Given the description of an element on the screen output the (x, y) to click on. 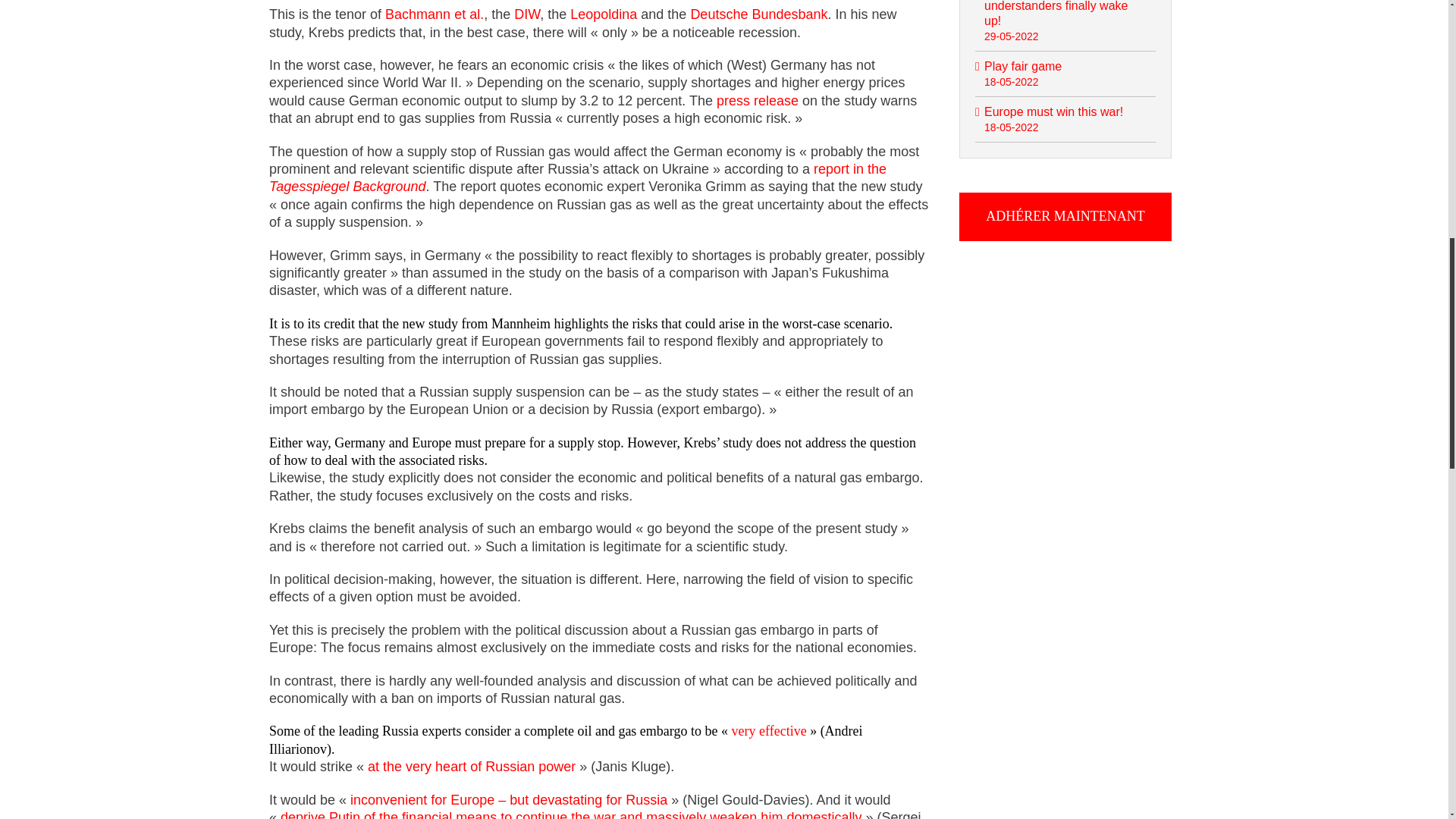
Bachmann et al. (434, 14)
DIW (526, 14)
